Given the description of an element on the screen output the (x, y) to click on. 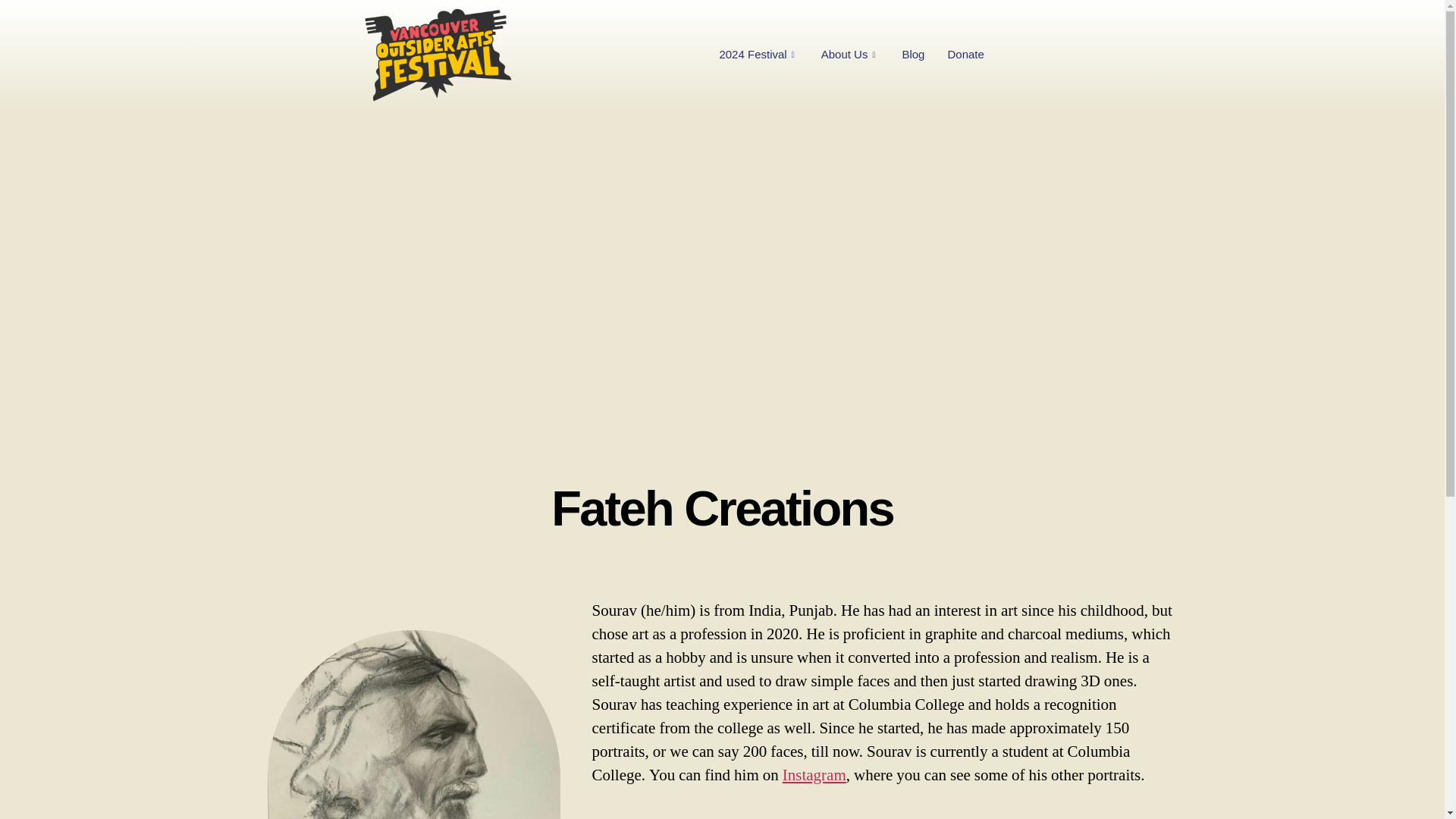
Donate (965, 54)
2024 Festival (758, 54)
About Us (850, 54)
Instagram (814, 774)
